Given the description of an element on the screen output the (x, y) to click on. 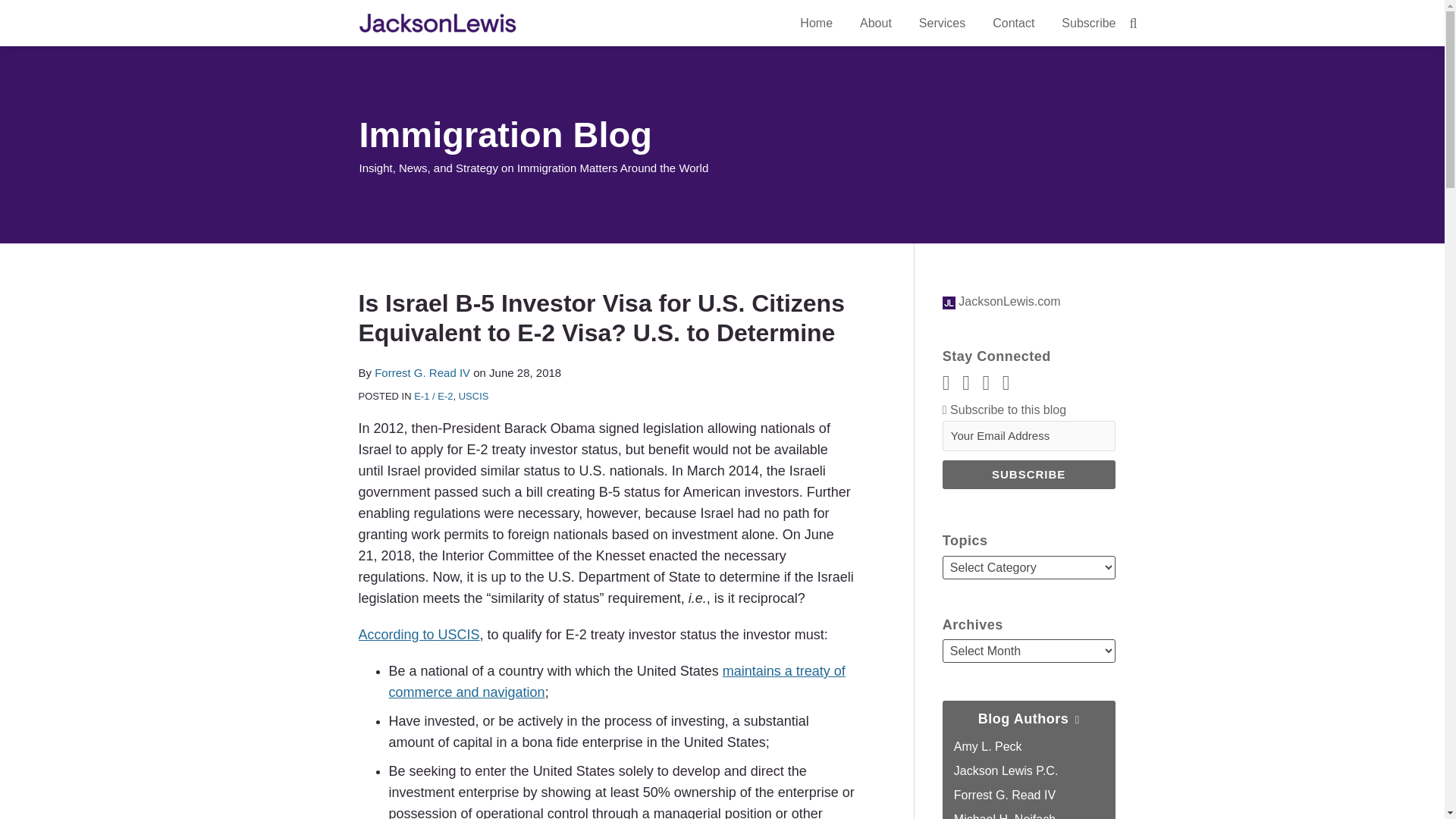
About (875, 23)
According to USCIS (418, 634)
Contact (1012, 23)
Jackson Lewis P.C. (1005, 770)
Forrest G. Read IV (422, 372)
Subscribe (1088, 23)
Immigration Blog (505, 134)
Subscribe (1028, 474)
Amy L. Peck (987, 746)
Services (941, 23)
JacksonLewis.com (1001, 300)
maintains a treaty of commerce and navigation (616, 681)
USCIS (473, 396)
Subscribe (1028, 474)
Home (815, 23)
